Given the description of an element on the screen output the (x, y) to click on. 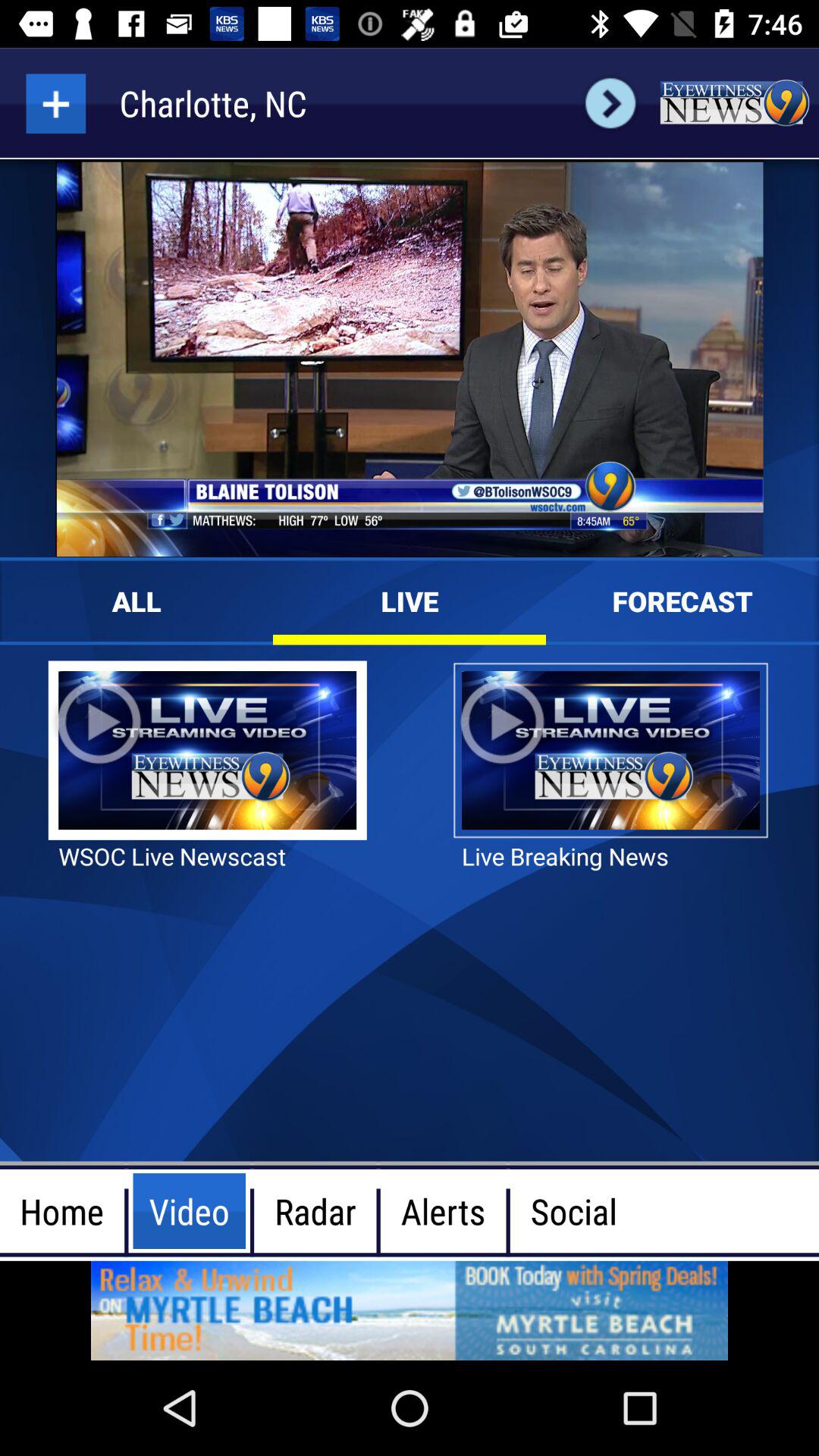
add a news (55, 103)
